Given the description of an element on the screen output the (x, y) to click on. 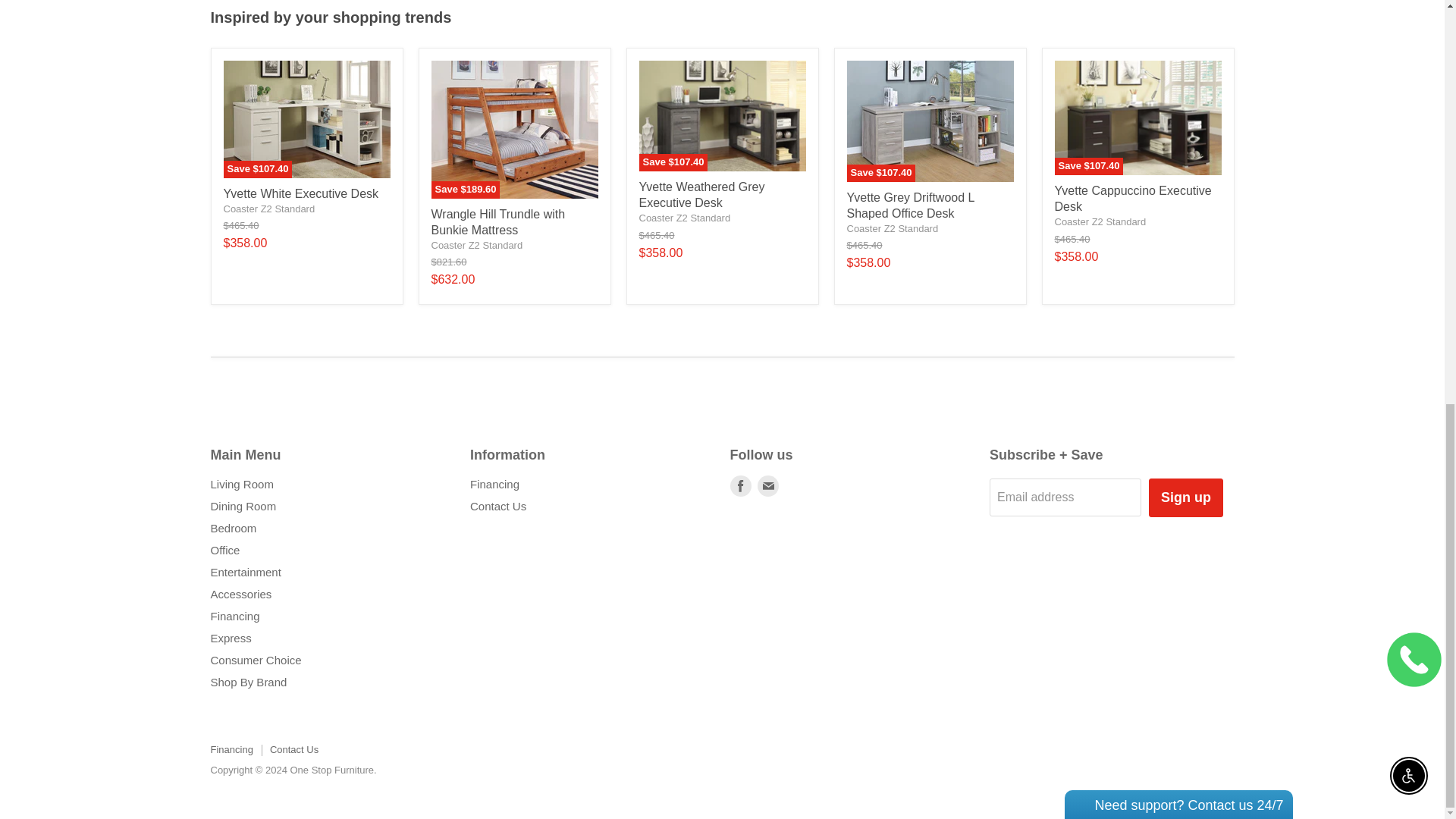
Coaster Z2 Standard (891, 228)
Click to minimize (1187, 52)
Coaster Z2 Standard (684, 217)
Coaster Z2 Standard (476, 244)
Facebook (740, 485)
Coaster Z2 Standard (268, 208)
Click to popout into a new window (1205, 52)
E-mail (767, 485)
Coaster Z2 Standard (1099, 221)
